Given the description of an element on the screen output the (x, y) to click on. 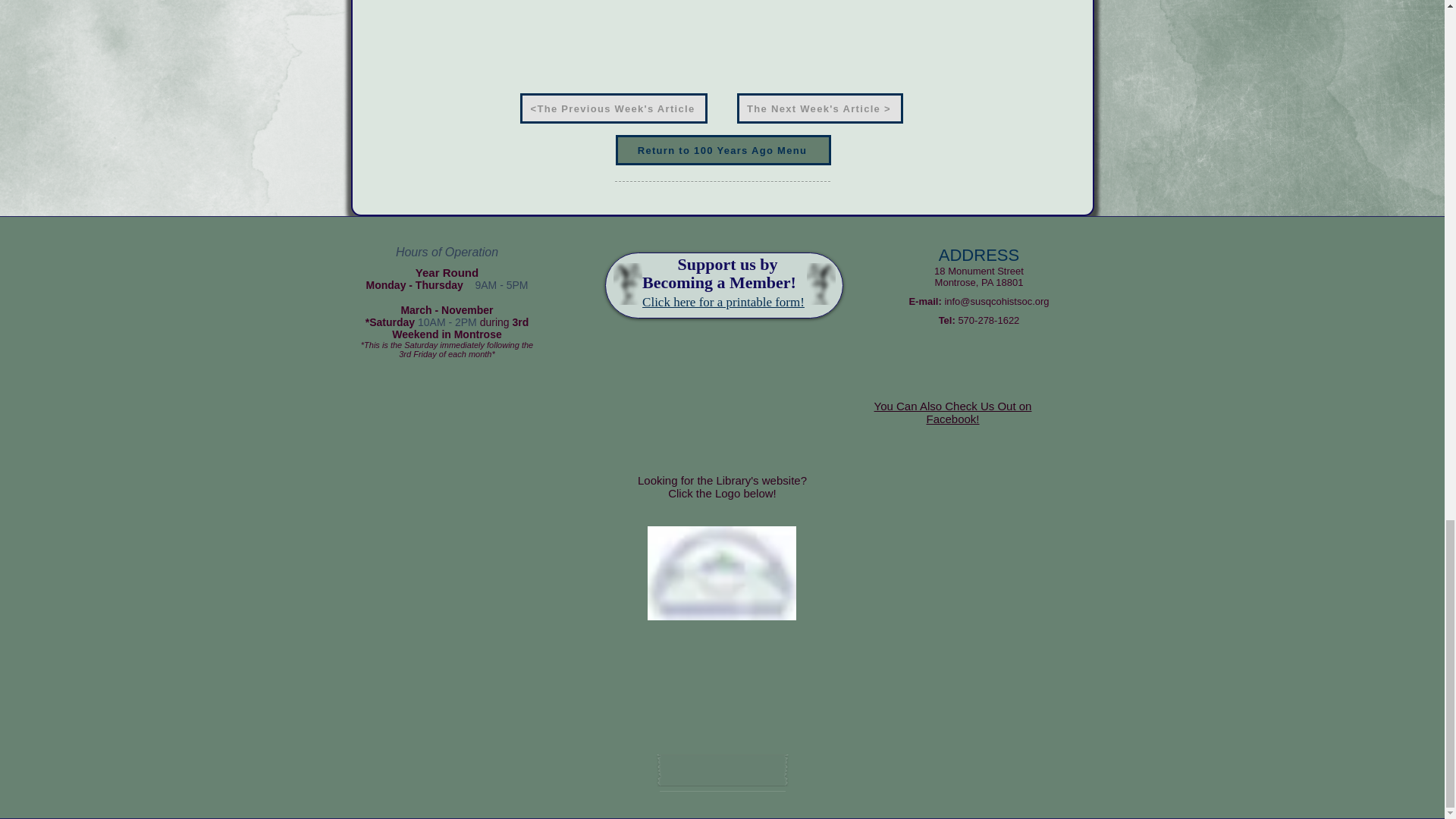
Staff Page (722, 770)
You Can Also Check Us Out on Facebook! (953, 412)
Return to 100 Years Ago Menu (723, 150)
